Given the description of an element on the screen output the (x, y) to click on. 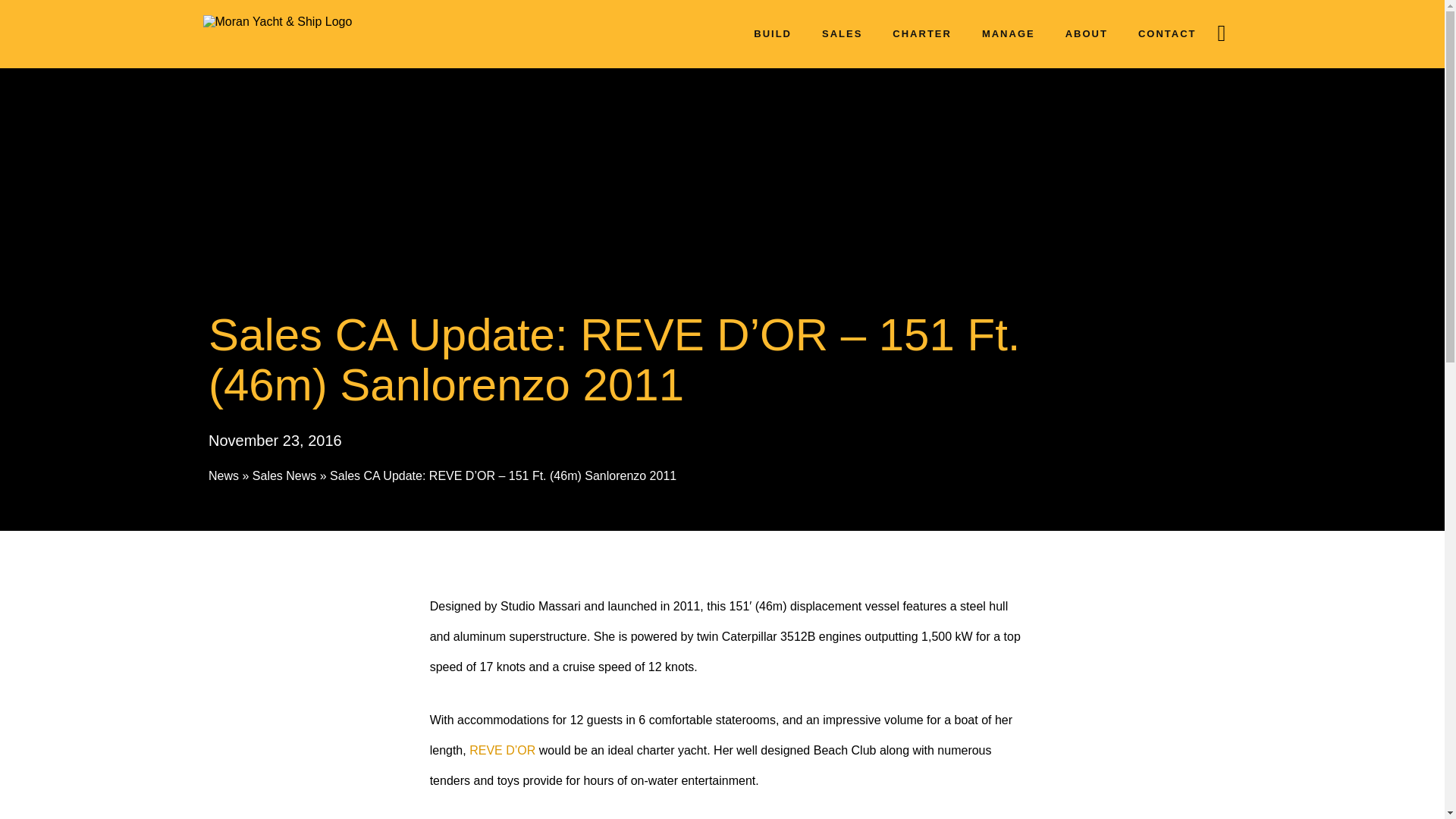
BUILD (773, 19)
SALES (841, 19)
CHARTER (922, 19)
